Given the description of an element on the screen output the (x, y) to click on. 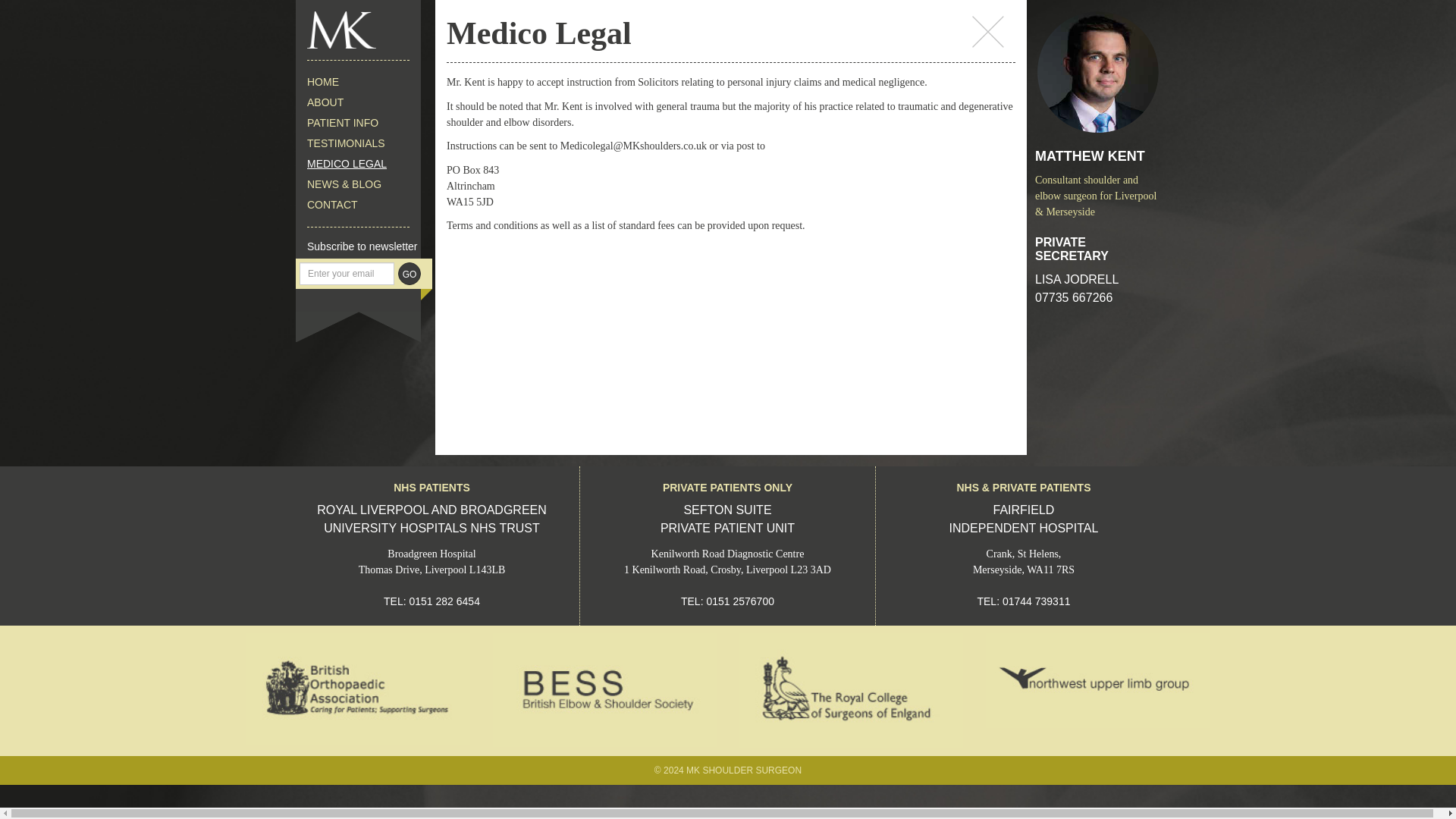
HOME (358, 82)
0151 2576700 (740, 601)
CONTACT (727, 518)
TESTIMONIALS (358, 204)
0151 282 6454 (358, 143)
Go back (444, 601)
PATIENT INFO (988, 31)
ABOUT (358, 123)
GO (358, 102)
MEDICO LEGAL (408, 273)
01744 739311 (358, 163)
07735 667266 (1036, 601)
